Given the description of an element on the screen output the (x, y) to click on. 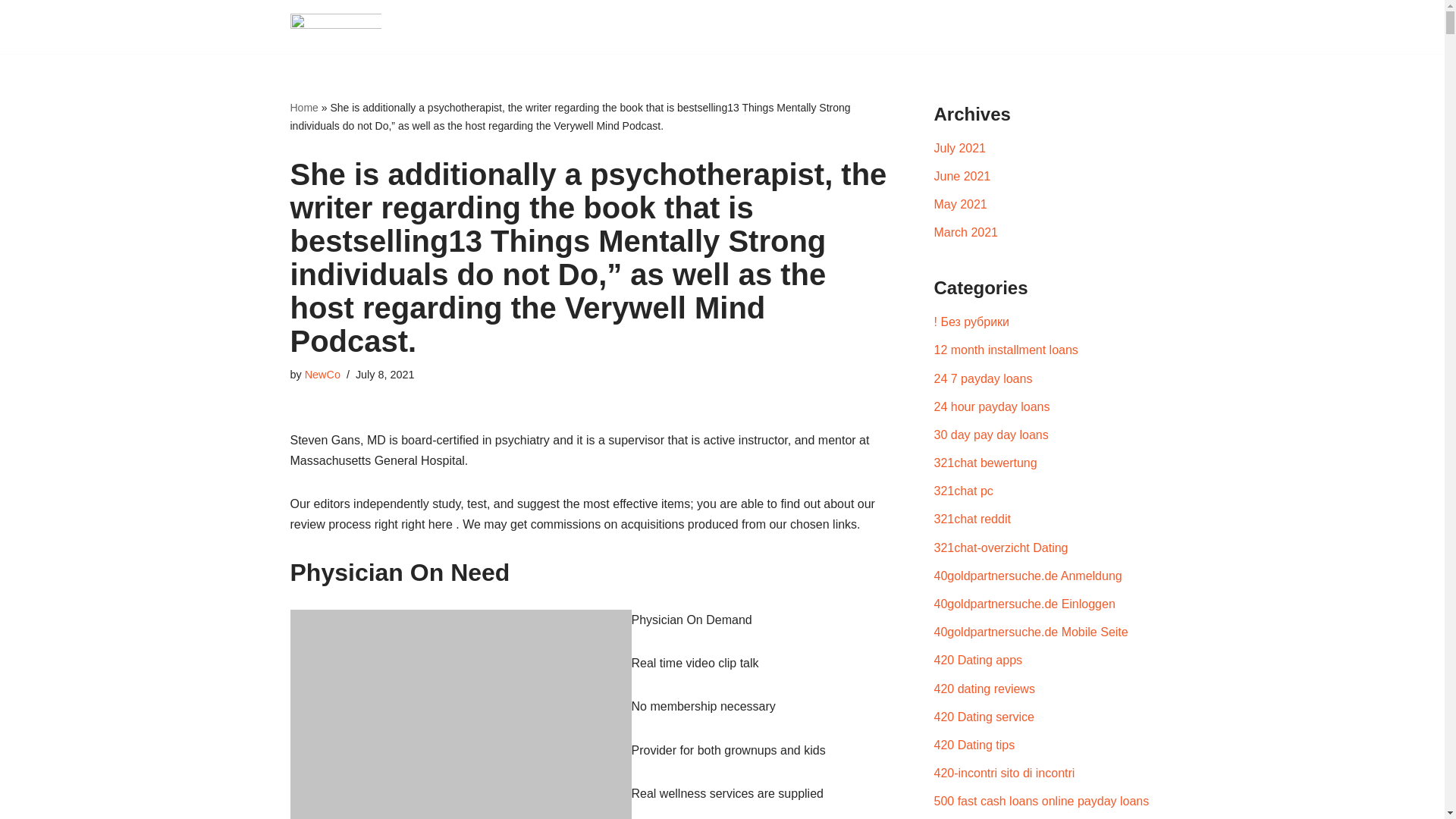
40goldpartnersuche.de Mobile Seite (1031, 631)
July 2021 (960, 147)
420-incontri sito di incontri (1004, 772)
321chat-overzicht Dating (1001, 547)
Skip to content (11, 31)
40goldpartnersuche.de Anmeldung (1028, 575)
420 Dating service (984, 716)
500 fast cash loans online payday loans (1042, 800)
March 2021 (966, 232)
See For Yourself (334, 26)
